Given the description of an element on the screen output the (x, y) to click on. 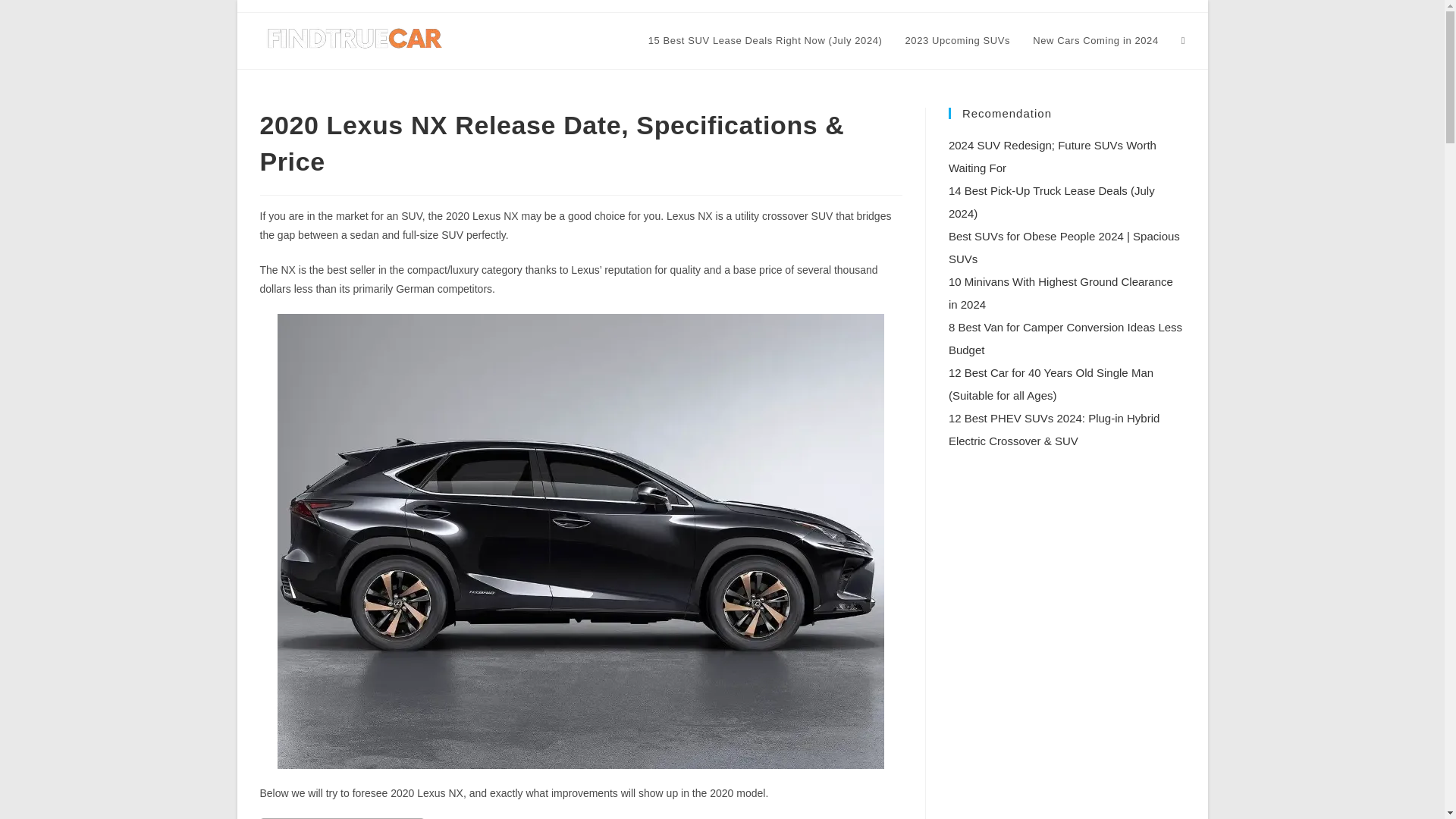
2023 Upcoming SUVs (957, 40)
New Cars Coming in 2024 (1096, 40)
